Given the description of an element on the screen output the (x, y) to click on. 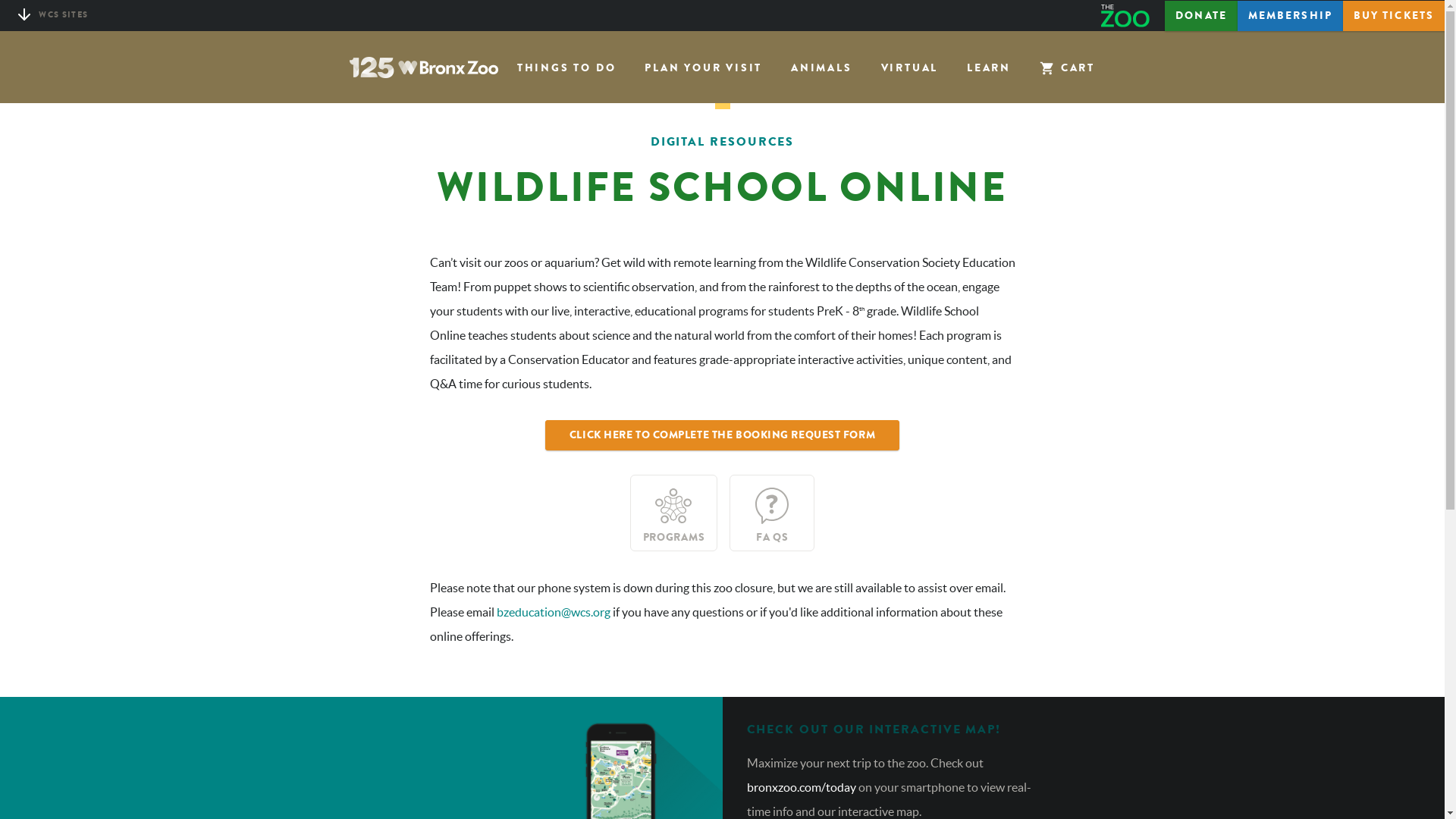
The Zoo (1132, 17)
ANIMALS (821, 67)
THINGS TO DO (566, 67)
CART (1066, 67)
LEARN (989, 67)
VIRTUAL (909, 67)
MEMBERSHIP (1289, 15)
PLAN YOUR VISIT (702, 67)
DONATE (1200, 15)
WCS SITES (58, 15)
